Given the description of an element on the screen output the (x, y) to click on. 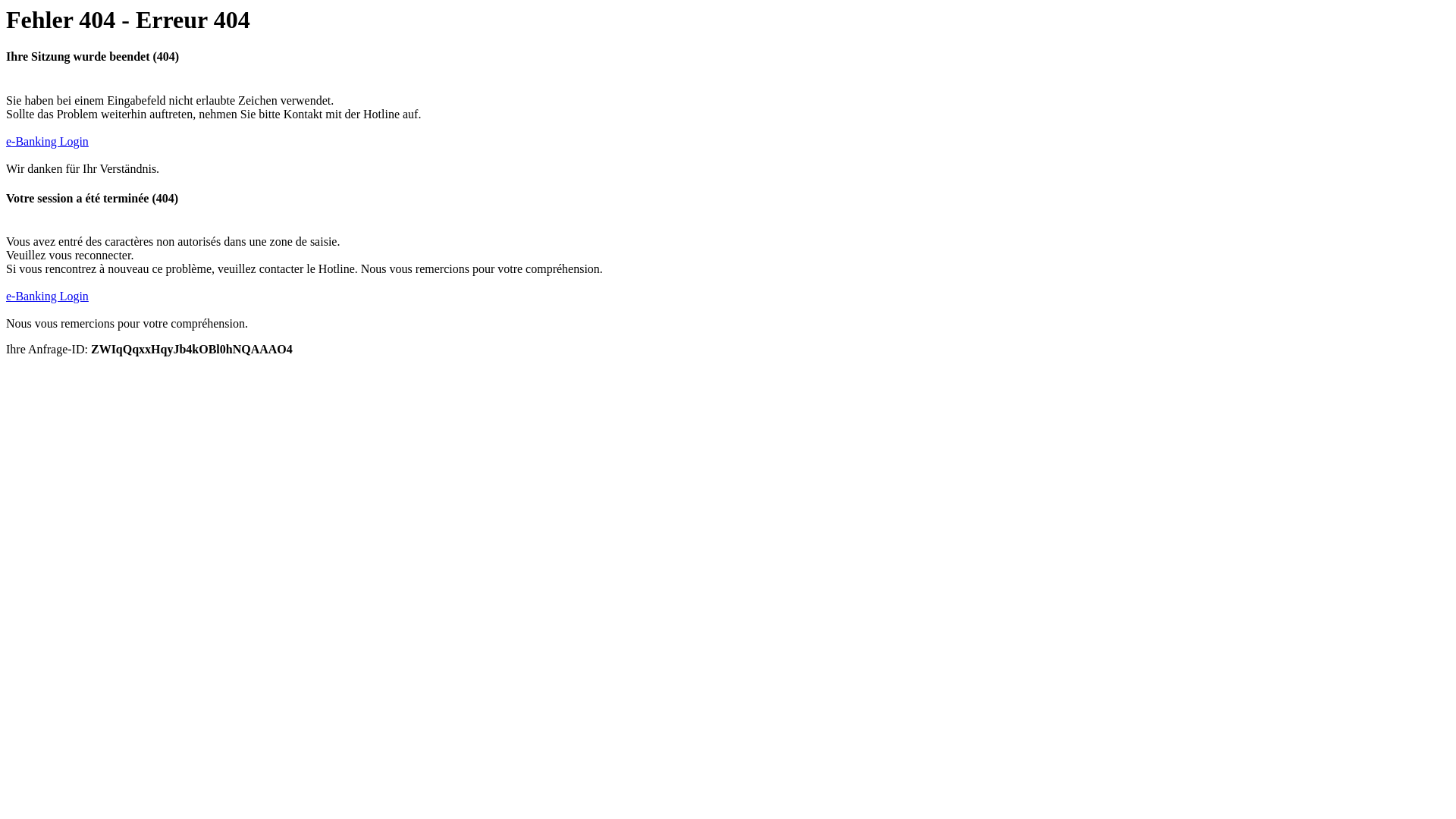
e-Banking Login Element type: text (47, 295)
e-Banking Login Element type: text (47, 140)
